Given the description of an element on the screen output the (x, y) to click on. 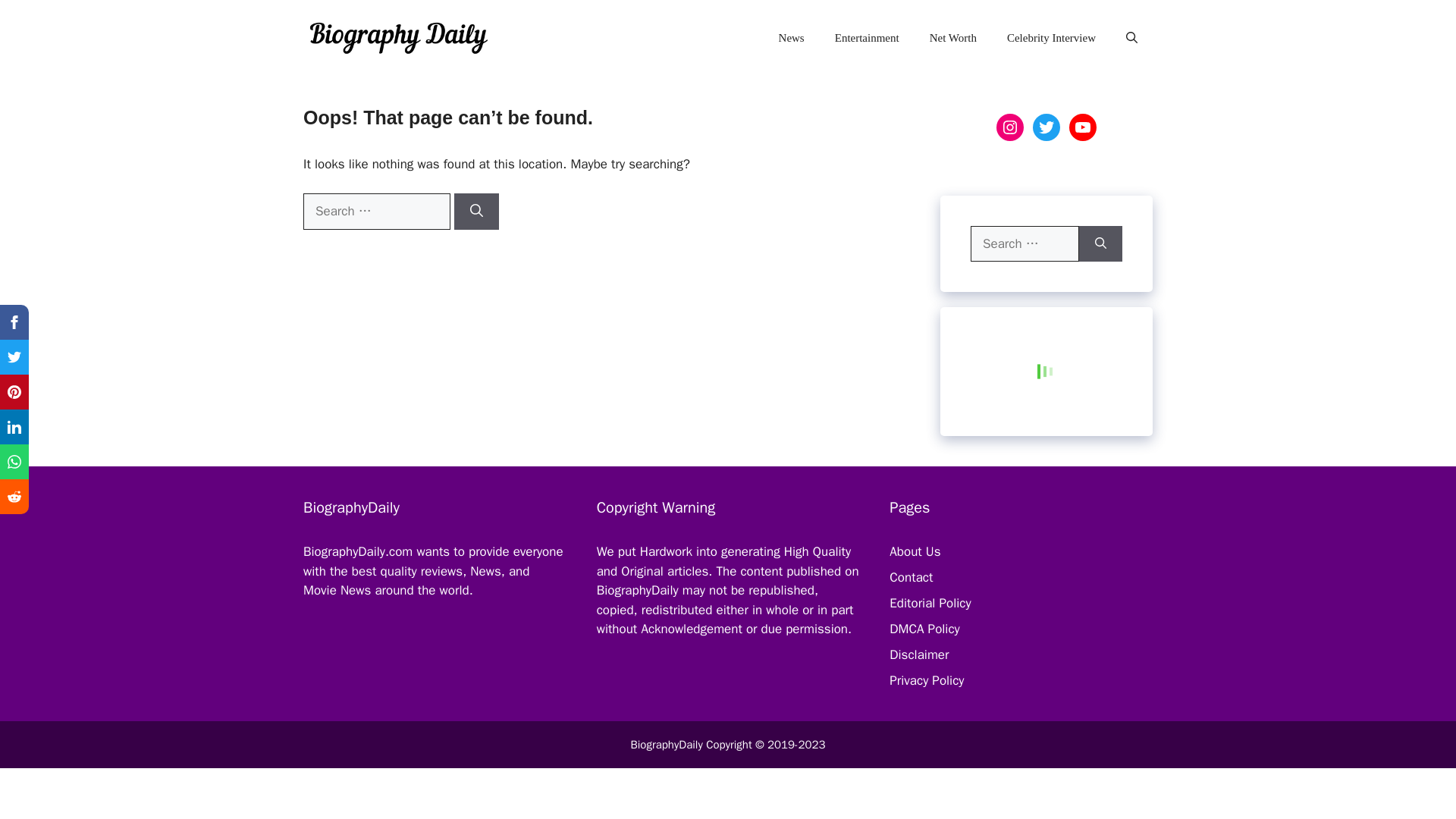
Celebrity Interview (1050, 37)
Instagram (1009, 126)
Search for: (375, 211)
About Us (914, 551)
Disclaimer (919, 654)
Net Worth (952, 37)
Search for: (1024, 244)
Privacy Policy (926, 680)
Twitter (1045, 126)
Entertainment (866, 37)
Contact (911, 577)
DMCA Policy (924, 628)
YouTube (1082, 126)
News (790, 37)
Editorial Policy (930, 602)
